Given the description of an element on the screen output the (x, y) to click on. 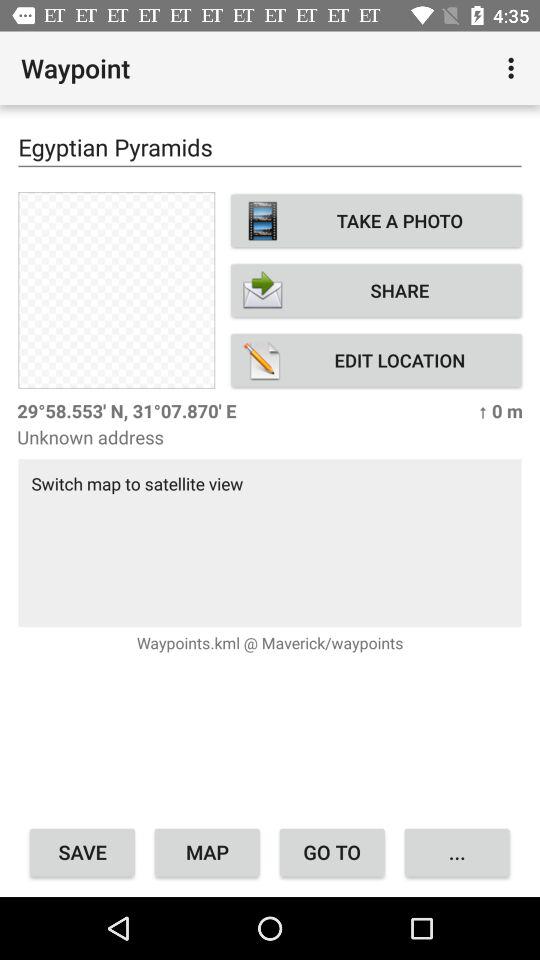
select icon above the share icon (375, 220)
